Given the description of an element on the screen output the (x, y) to click on. 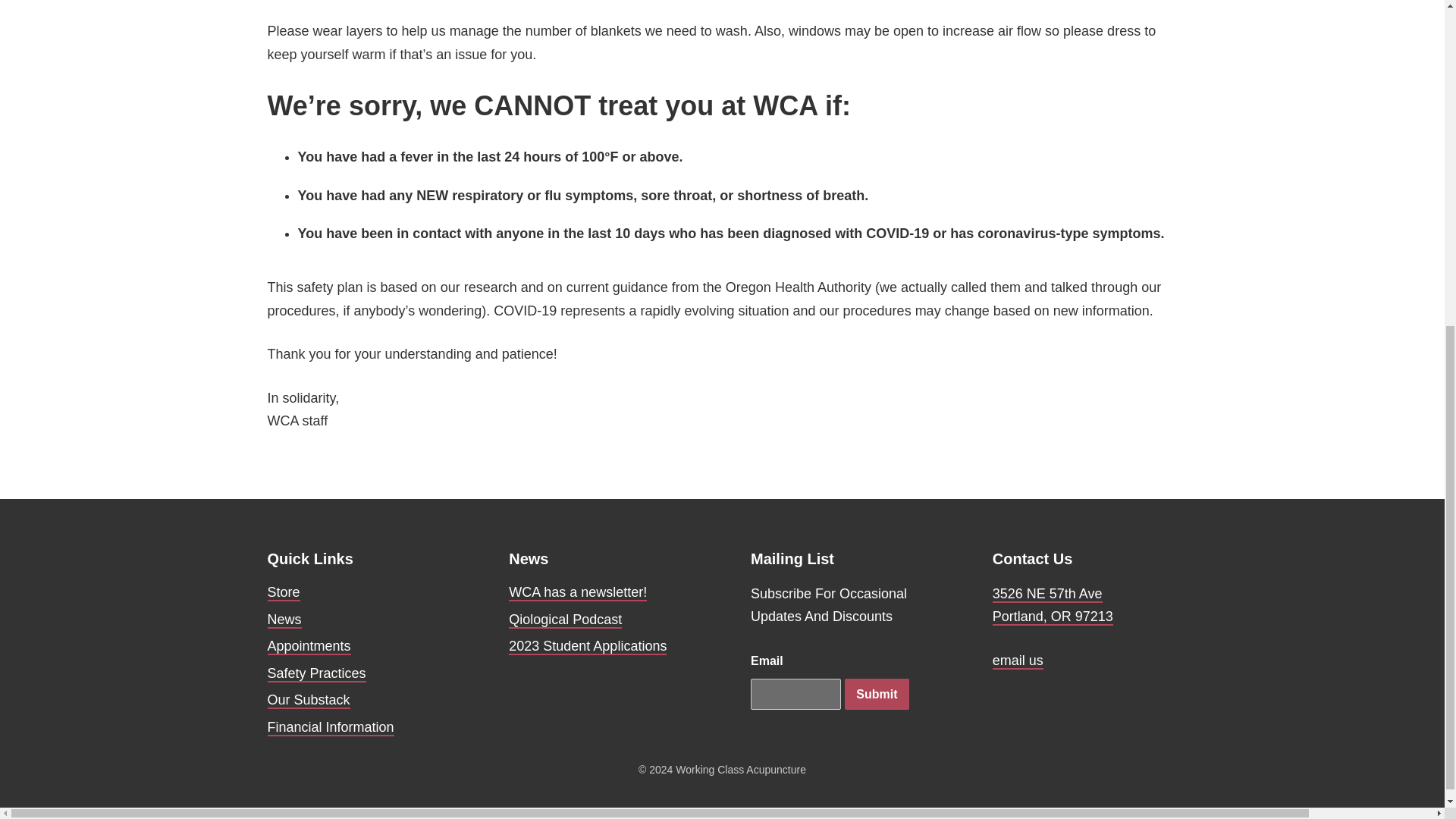
Submit (876, 694)
